Given the description of an element on the screen output the (x, y) to click on. 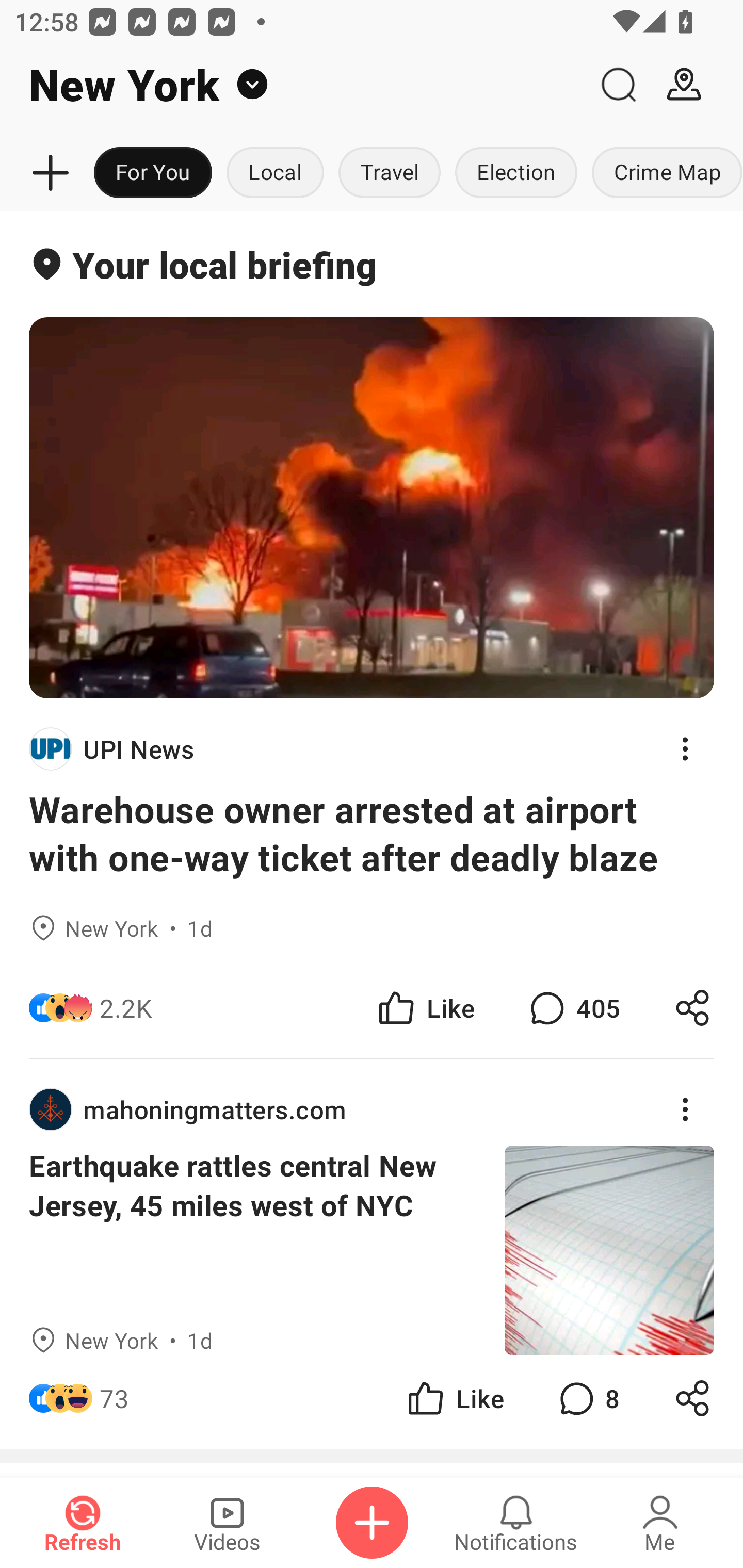
New York (292, 84)
For You (152, 172)
Local (275, 172)
Travel (389, 172)
Election (516, 172)
Crime Map (663, 172)
2.2K (125, 1007)
Like (425, 1007)
405 (572, 1007)
73 (114, 1397)
Like (454, 1397)
8 (587, 1397)
Videos (227, 1522)
Notifications (516, 1522)
Me (659, 1522)
